Given the description of an element on the screen output the (x, y) to click on. 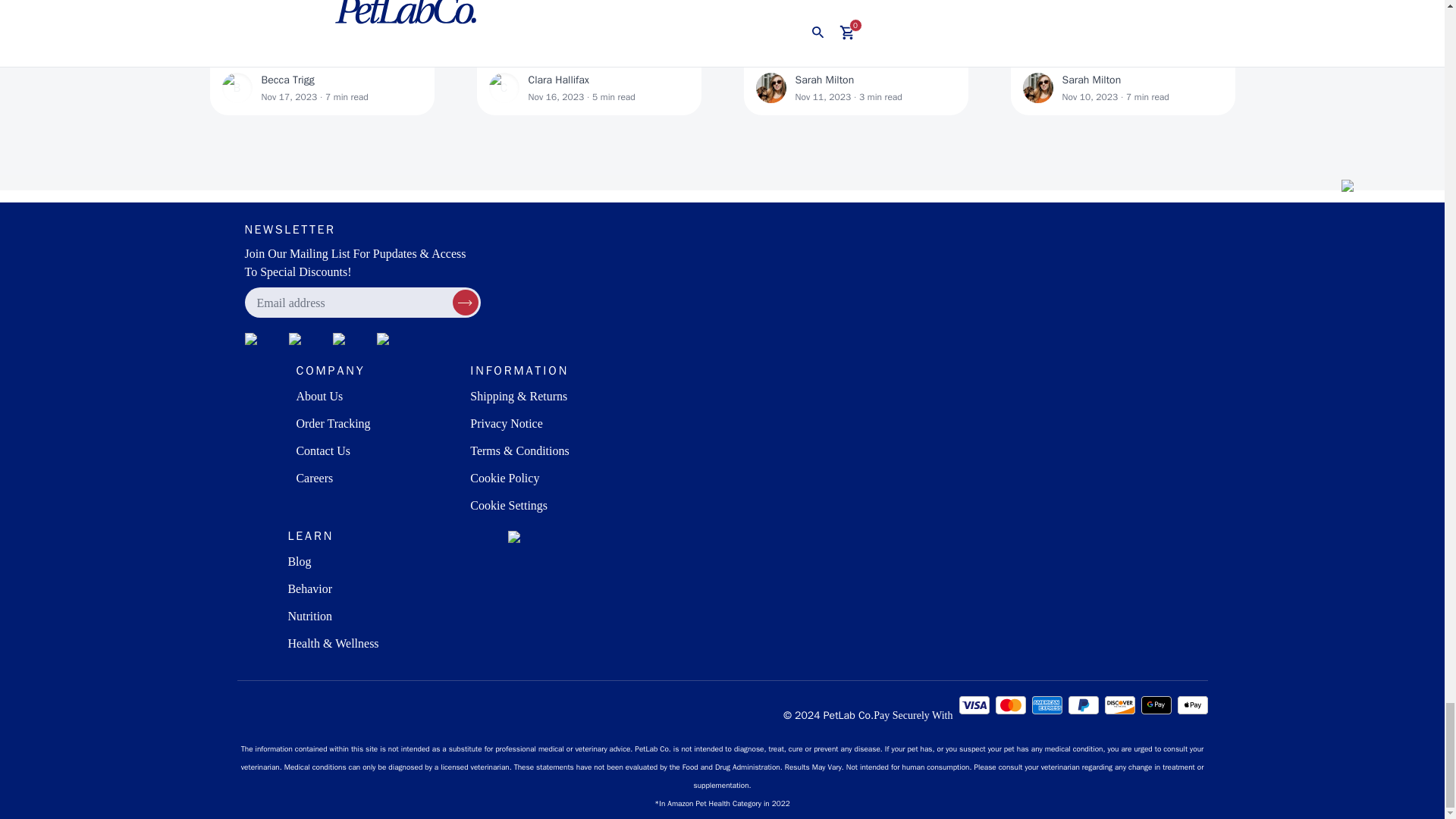
What Are Teacup Dogs? (855, 54)
What Type of Dog Is Best For You? (587, 54)
How To Protect Your Pet In A Fire (1122, 54)
